Given the description of an element on the screen output the (x, y) to click on. 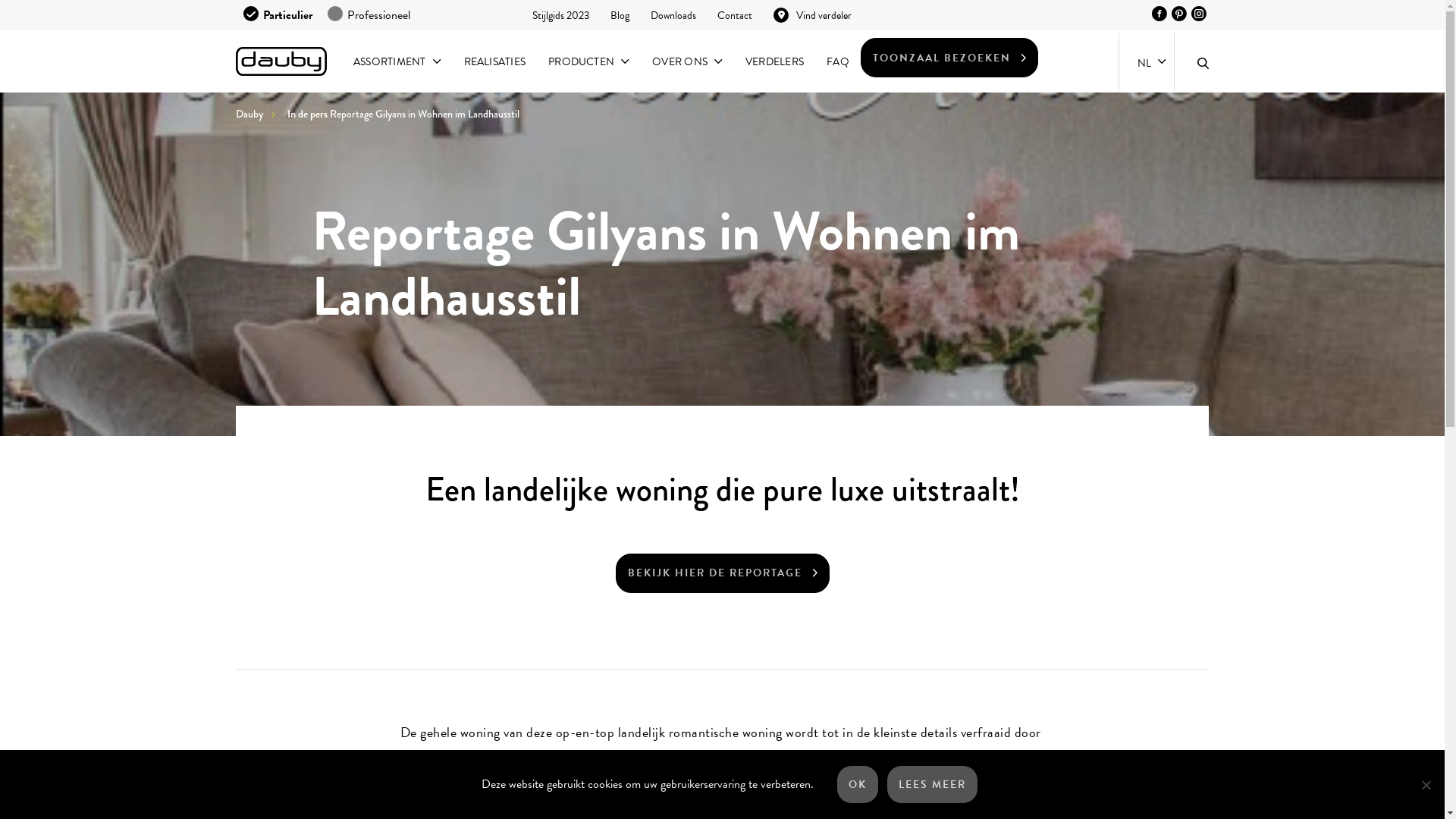
ASSORTIMENT Element type: text (397, 61)
LEES MEER Element type: text (932, 784)
NL Element type: text (1146, 60)
Downloads Element type: text (673, 15)
Particulier Element type: text (277, 15)
REALISATIES Element type: text (495, 61)
BEKIJK HIER DE REPORTAGE Element type: text (722, 573)
PRODUCTEN Element type: text (588, 61)
VERDELERS Element type: text (774, 61)
Dauby Element type: hover (280, 60)
In de pers Element type: text (307, 114)
TOONZAAL BEZOEKEN Element type: text (949, 57)
Nee Element type: hover (1425, 783)
Stijlgids 2023 Element type: text (560, 15)
Contact Element type: text (734, 15)
Professioneel Element type: text (368, 15)
Dauby Element type: text (260, 113)
Vind verdeler Element type: text (812, 15)
OVER ONS Element type: text (687, 61)
OK Element type: text (857, 784)
FAQ Element type: text (837, 61)
Blog Element type: text (619, 15)
